Given the description of an element on the screen output the (x, y) to click on. 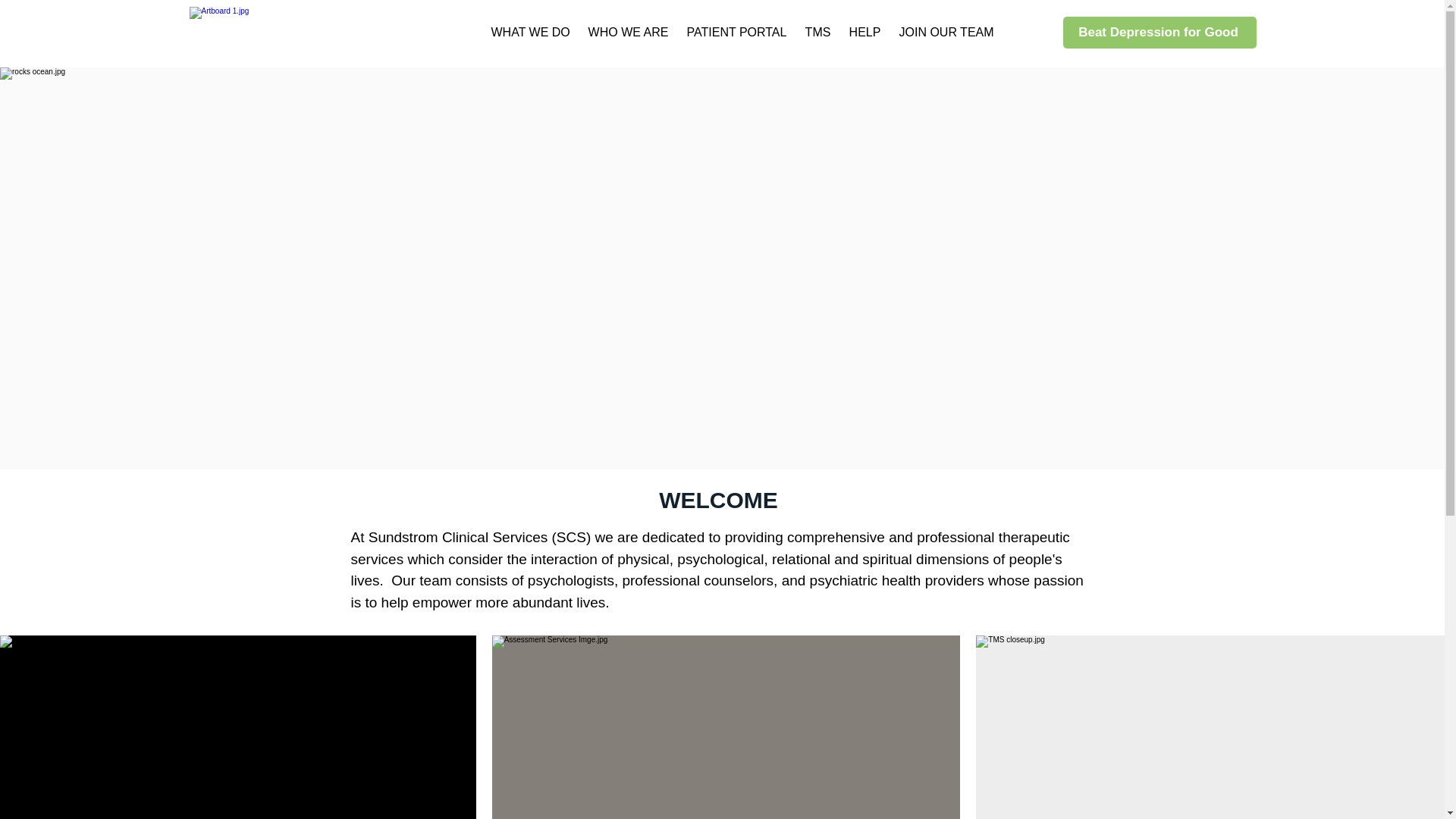
Beat Depression for Good (1159, 32)
JOIN OUR TEAM (946, 32)
WHO WE ARE (628, 32)
TMS (818, 32)
